Given the description of an element on the screen output the (x, y) to click on. 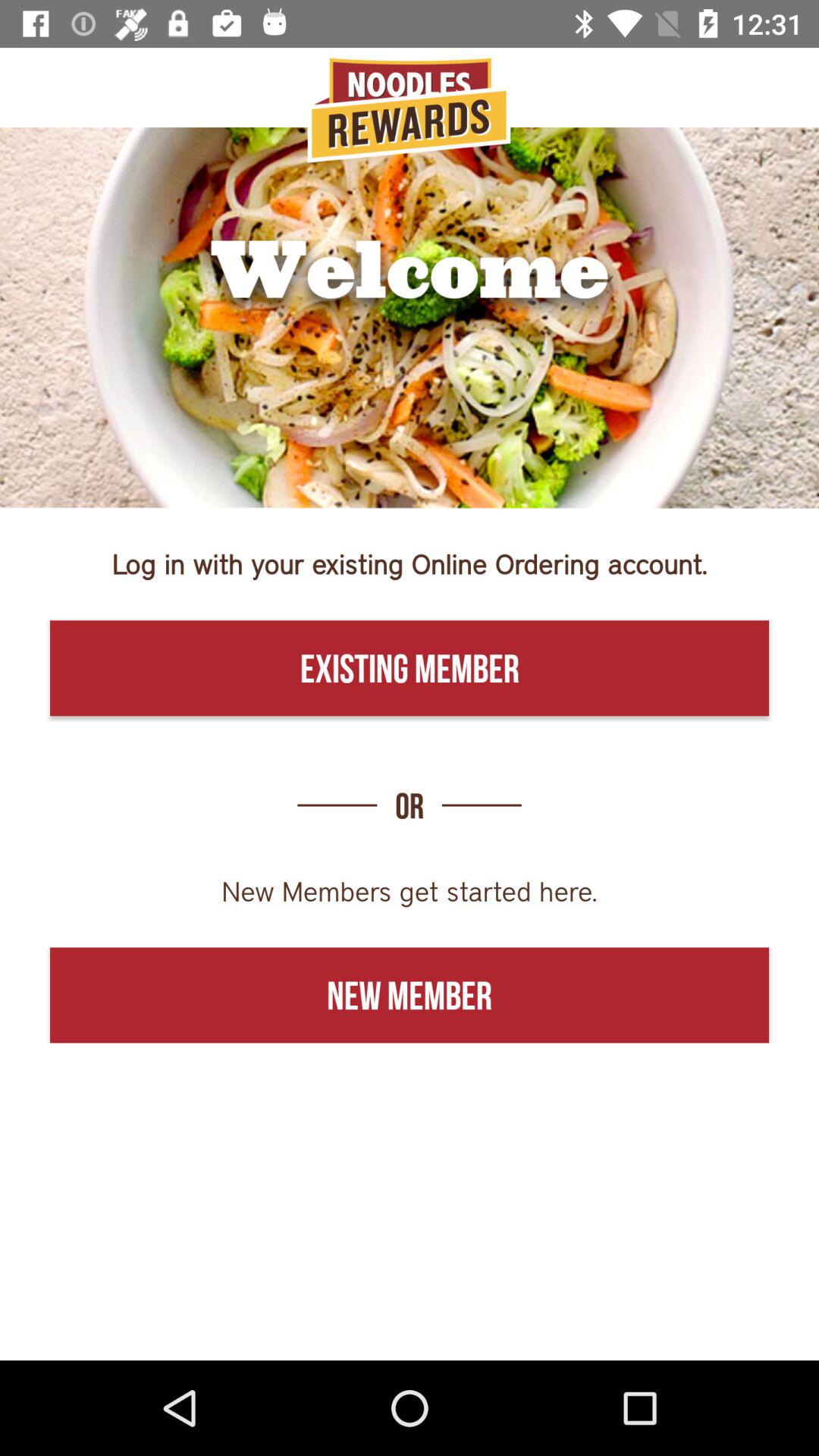
press the existing member icon (409, 668)
